Given the description of an element on the screen output the (x, y) to click on. 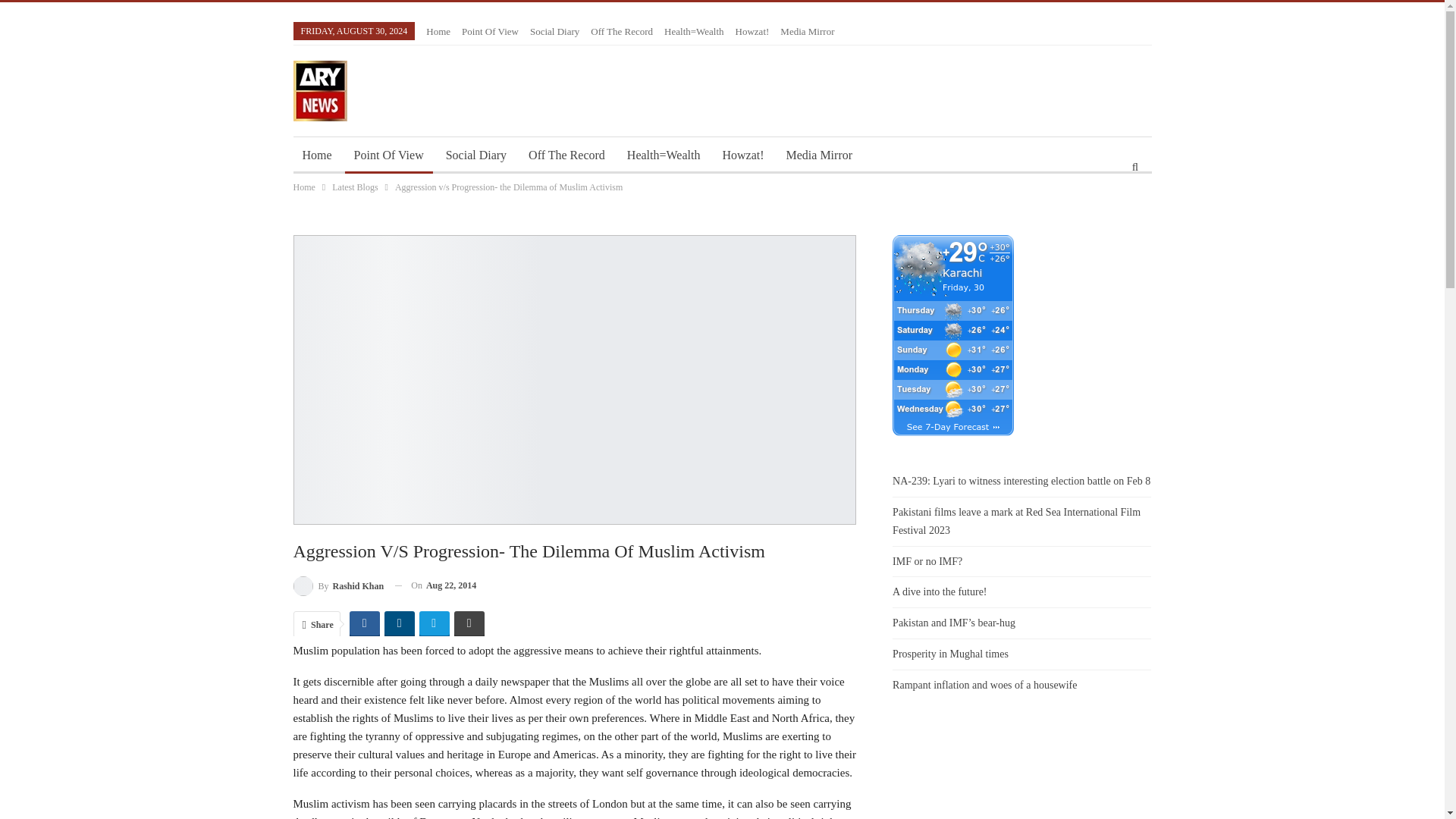
Howzat! (743, 155)
Howzat! (752, 30)
Off The Record (621, 30)
Home (316, 155)
Media Mirror (819, 155)
Point Of View (489, 30)
Home (303, 187)
Media Mirror (807, 30)
Social Diary (554, 30)
Home (437, 30)
